Given the description of an element on the screen output the (x, y) to click on. 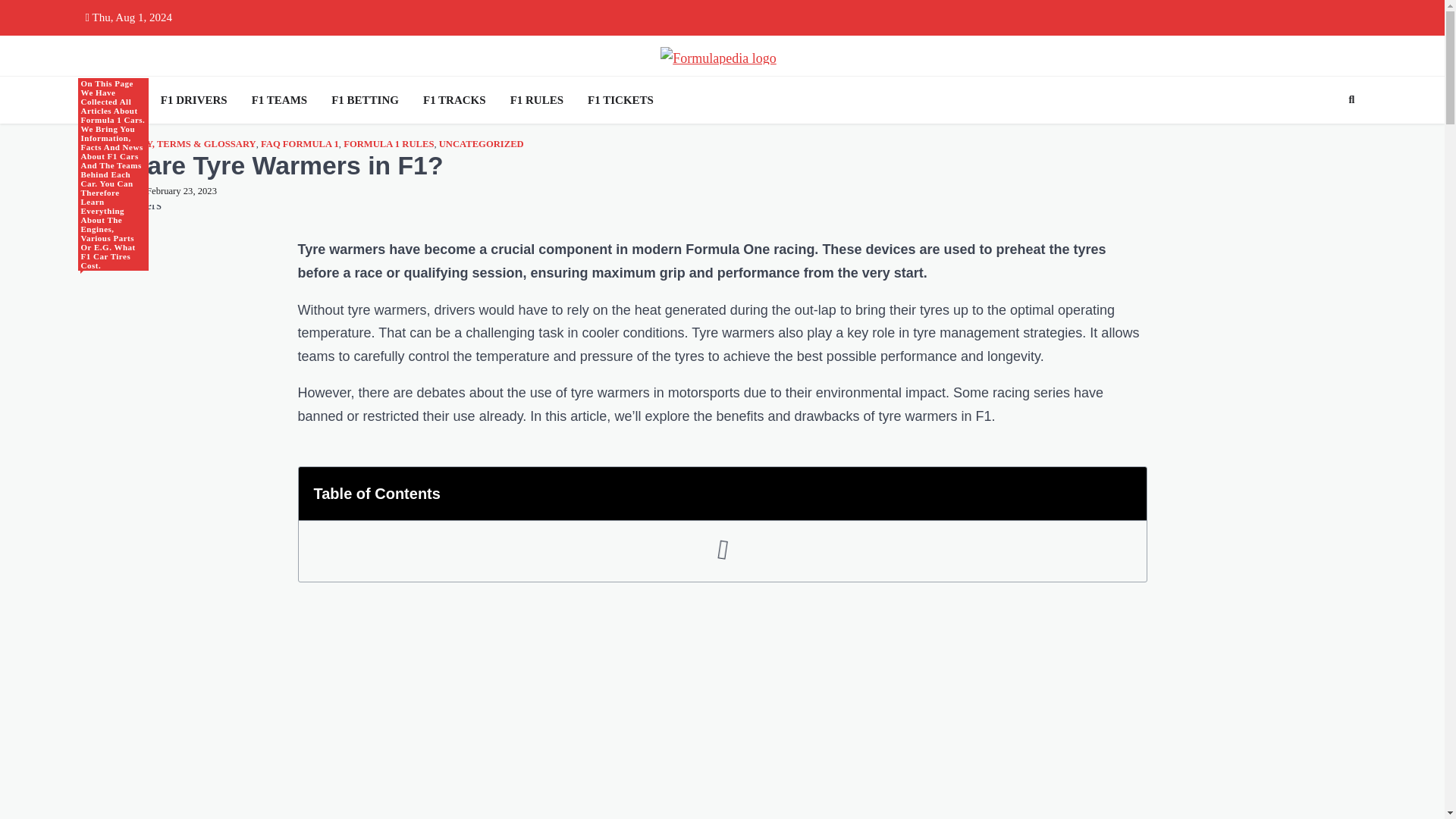
FAQ FORMULA 1 (299, 143)
F1 TICKETS (619, 100)
F1 BETTING (364, 100)
F1 TRACKS (454, 100)
FORMULA 1 RULES (388, 143)
Search (1351, 99)
February 23, 2023 (177, 190)
Lisette Holm (106, 190)
Search (1323, 135)
UNCATEGORIZED (481, 143)
F1 TEAMS (279, 100)
F1 RULES (536, 100)
F1 DRIVERS (193, 100)
